Given the description of an element on the screen output the (x, y) to click on. 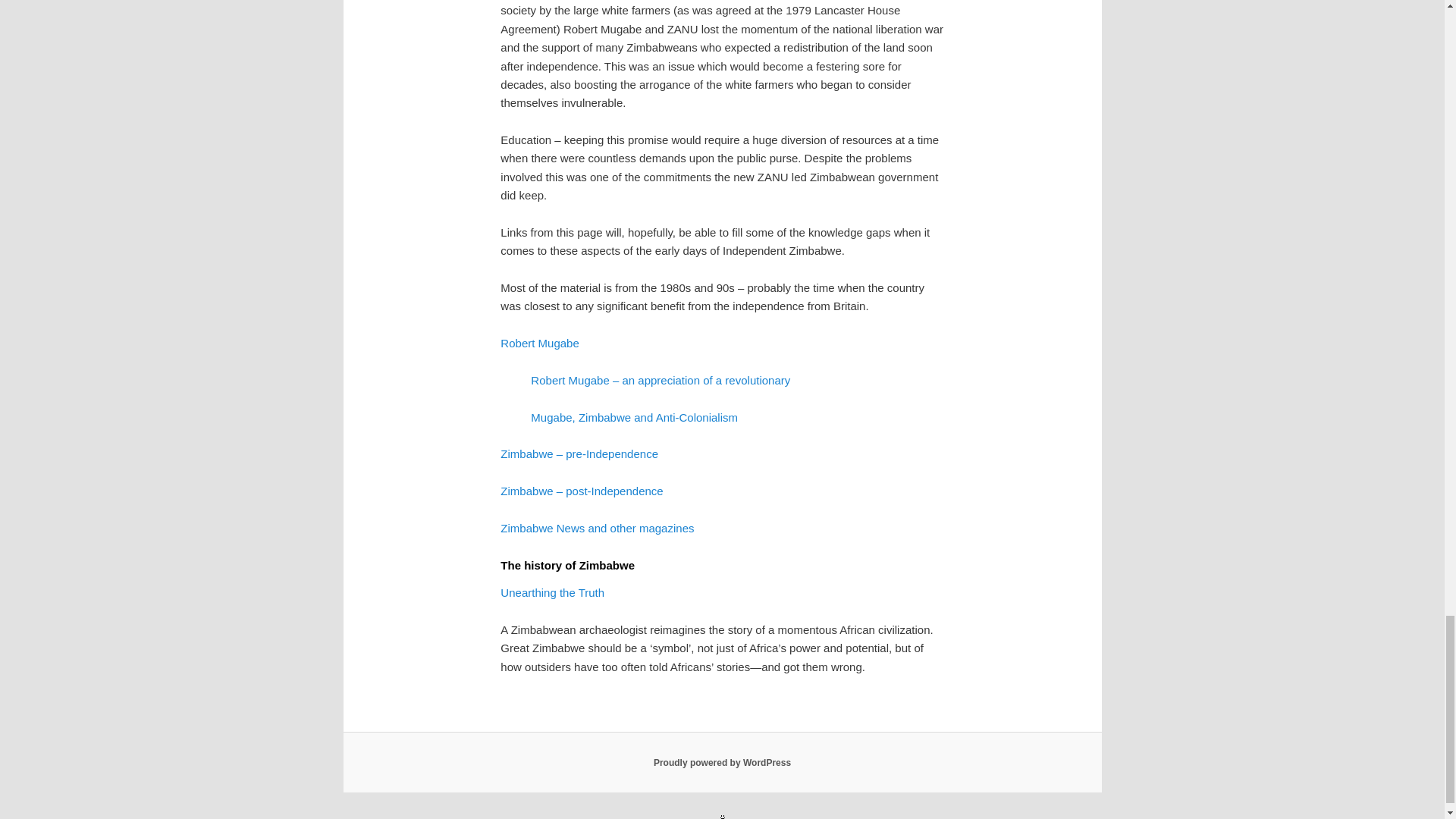
Mugabe, Zimbabwe and Anti-Colonialism (634, 417)
Proudly powered by WordPress (721, 762)
Unearthing the Truth (552, 592)
Zimbabwe News and other magazines (597, 527)
Robert Mugabe (539, 342)
Semantic Personal Publishing Platform (721, 762)
